Given the description of an element on the screen output the (x, y) to click on. 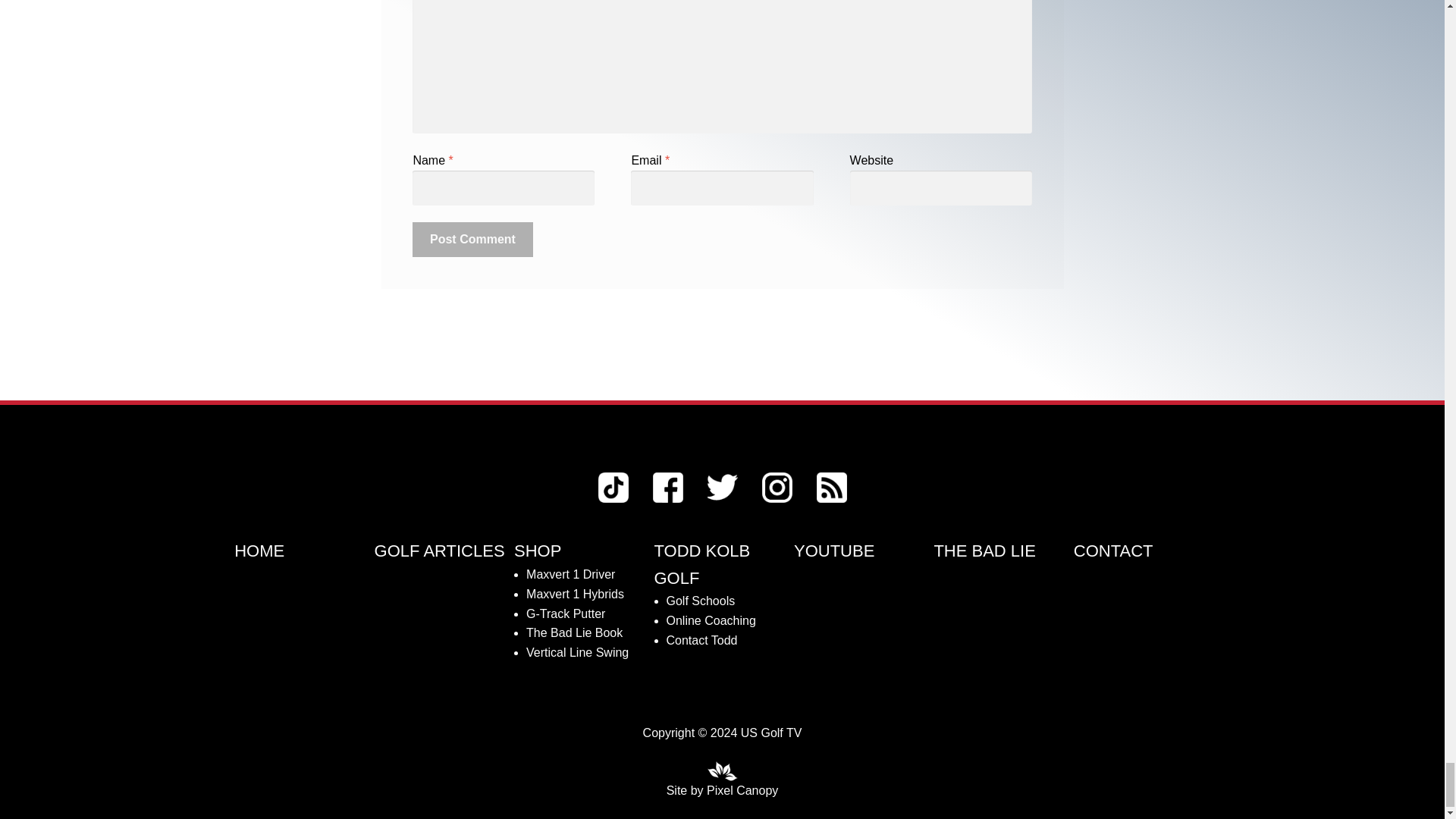
Post Comment (472, 239)
